Given the description of an element on the screen output the (x, y) to click on. 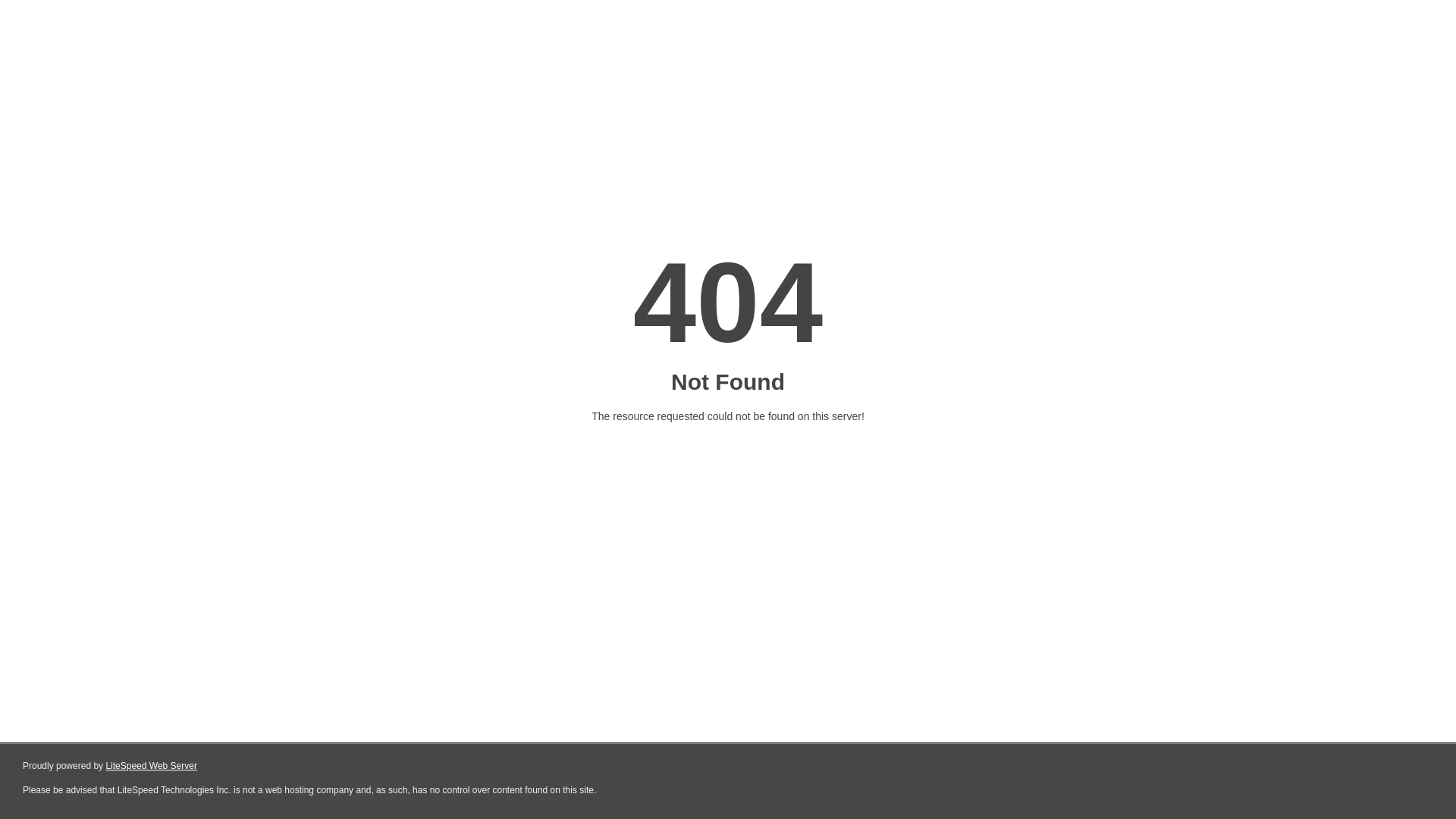
LiteSpeed Web Server Element type: text (151, 765)
